Given the description of an element on the screen output the (x, y) to click on. 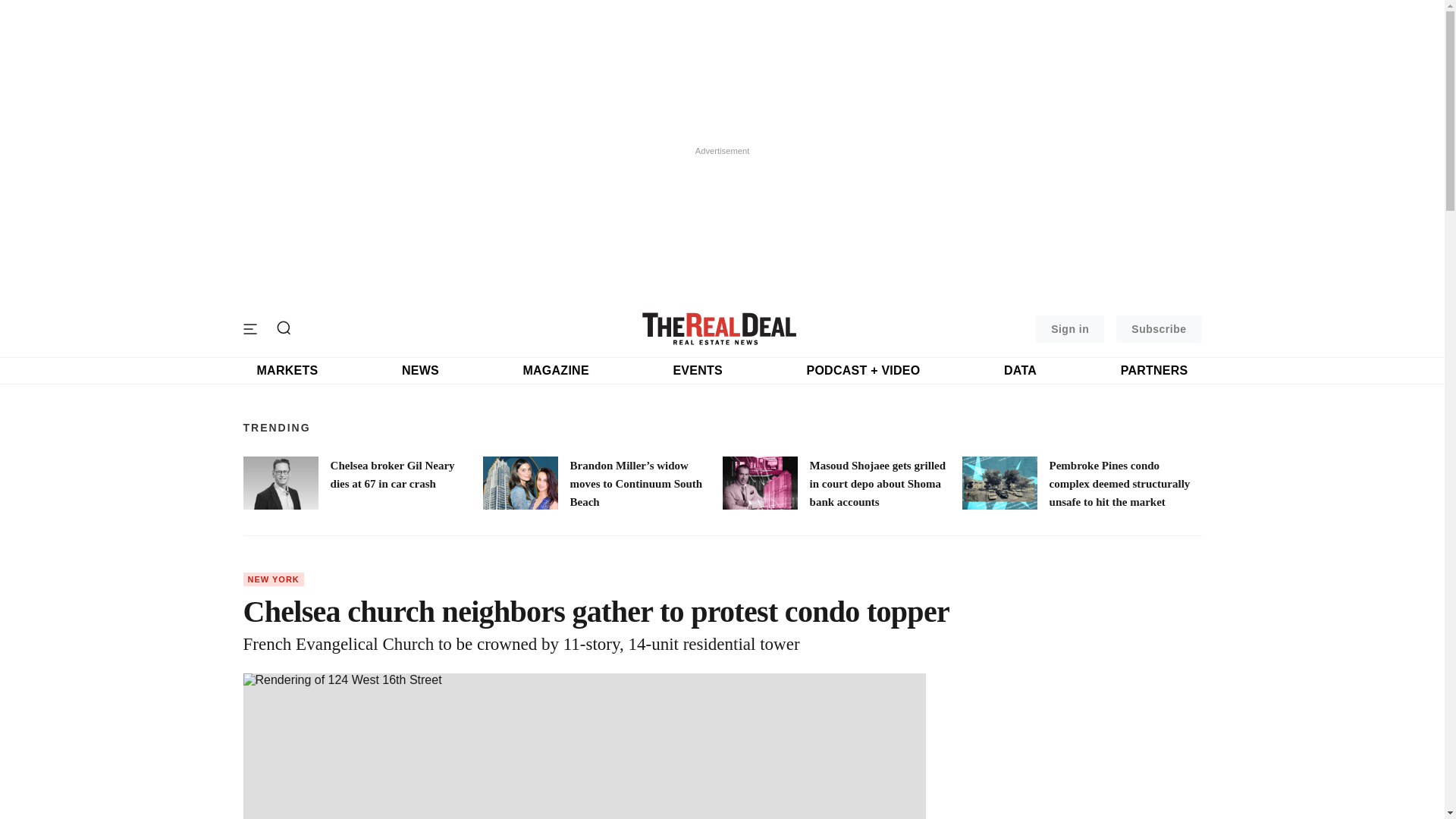
MARKETS (286, 370)
Sign in (1069, 329)
Subscribe (1158, 329)
NEWS (420, 370)
MAGAZINE (555, 370)
EVENTS (697, 370)
